Given the description of an element on the screen output the (x, y) to click on. 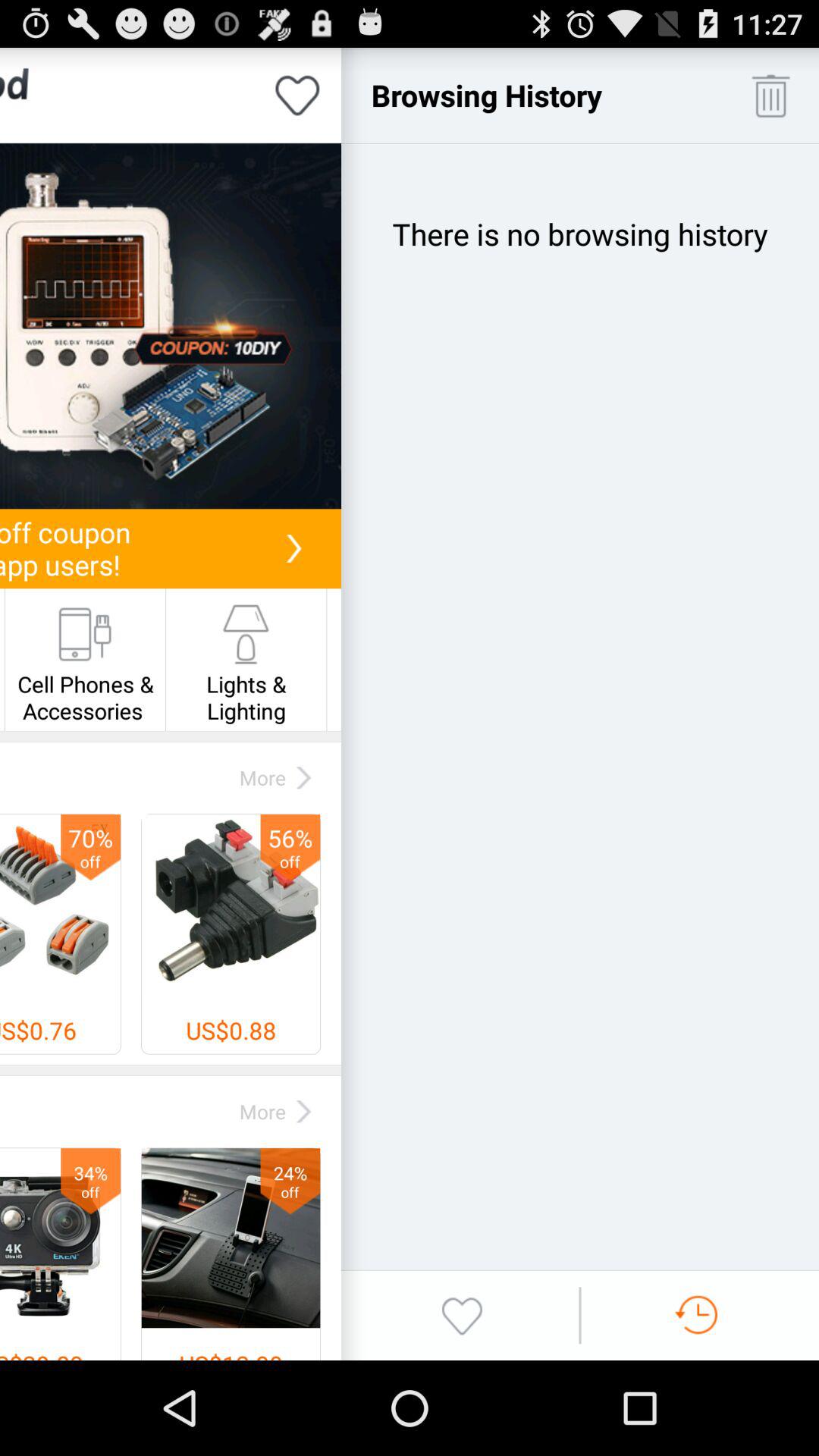
favorites (461, 1315)
